Given the description of an element on the screen output the (x, y) to click on. 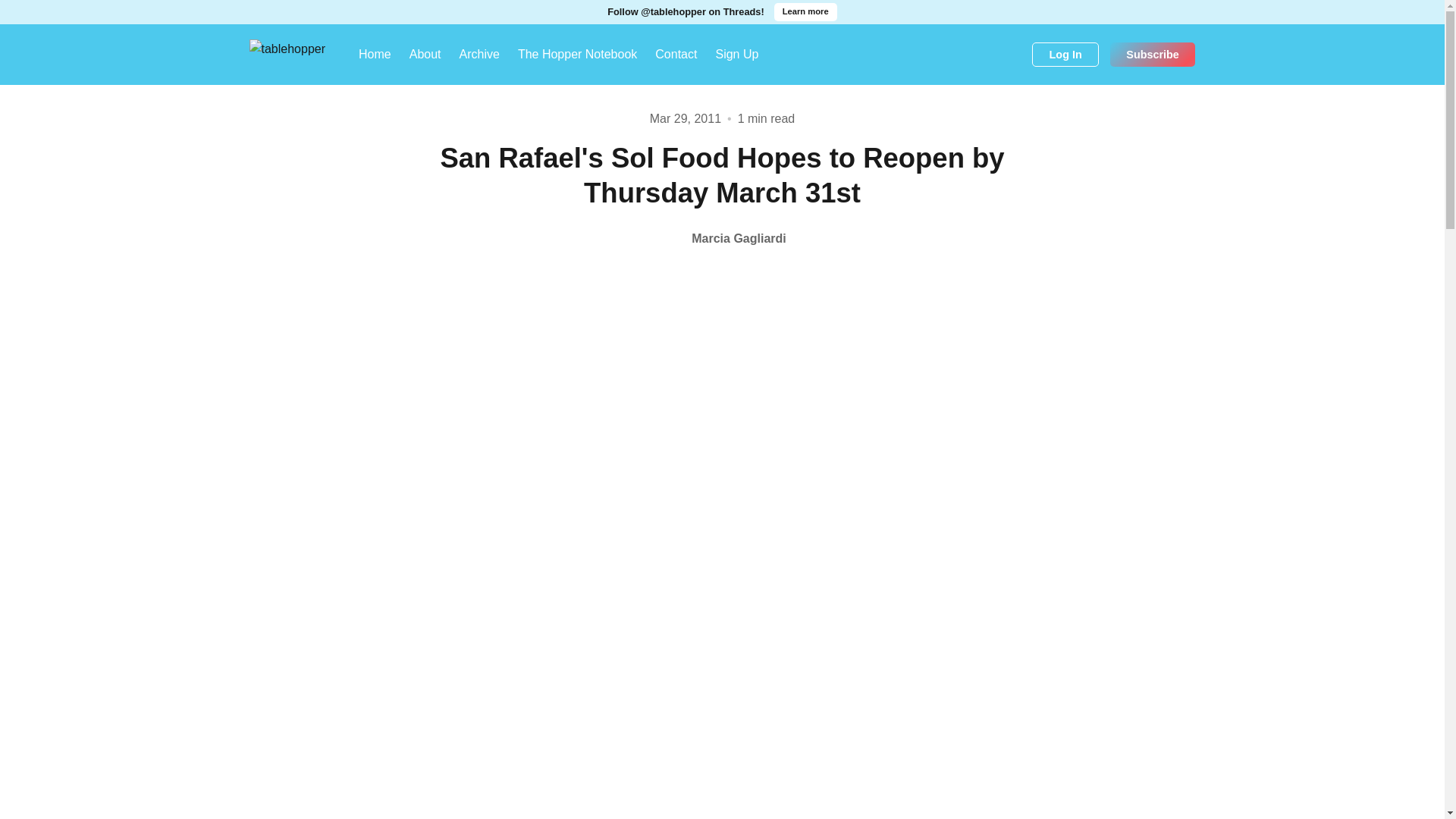
Learn more (805, 12)
Marcia Gagliardi (722, 238)
The Hopper Notebook (577, 54)
Home (374, 54)
Subscribe (1152, 54)
Sign Up (736, 54)
Log In (1065, 54)
Contact (676, 54)
Archive (478, 54)
Search (1014, 54)
